Given the description of an element on the screen output the (x, y) to click on. 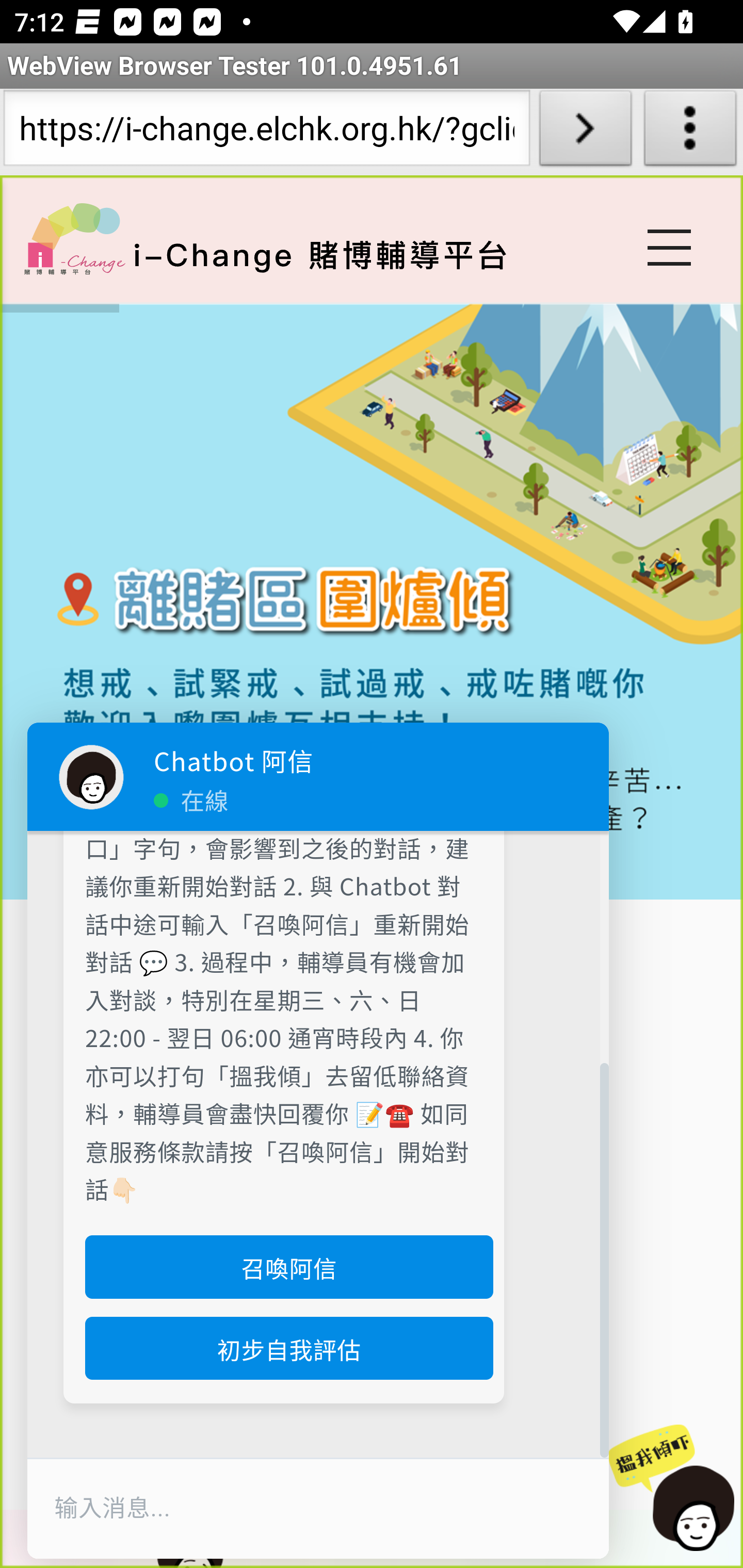
Load URL (585, 132)
About WebView (690, 132)
Home (74, 238)
Chat Now (669, 1488)
